Given the description of an element on the screen output the (x, y) to click on. 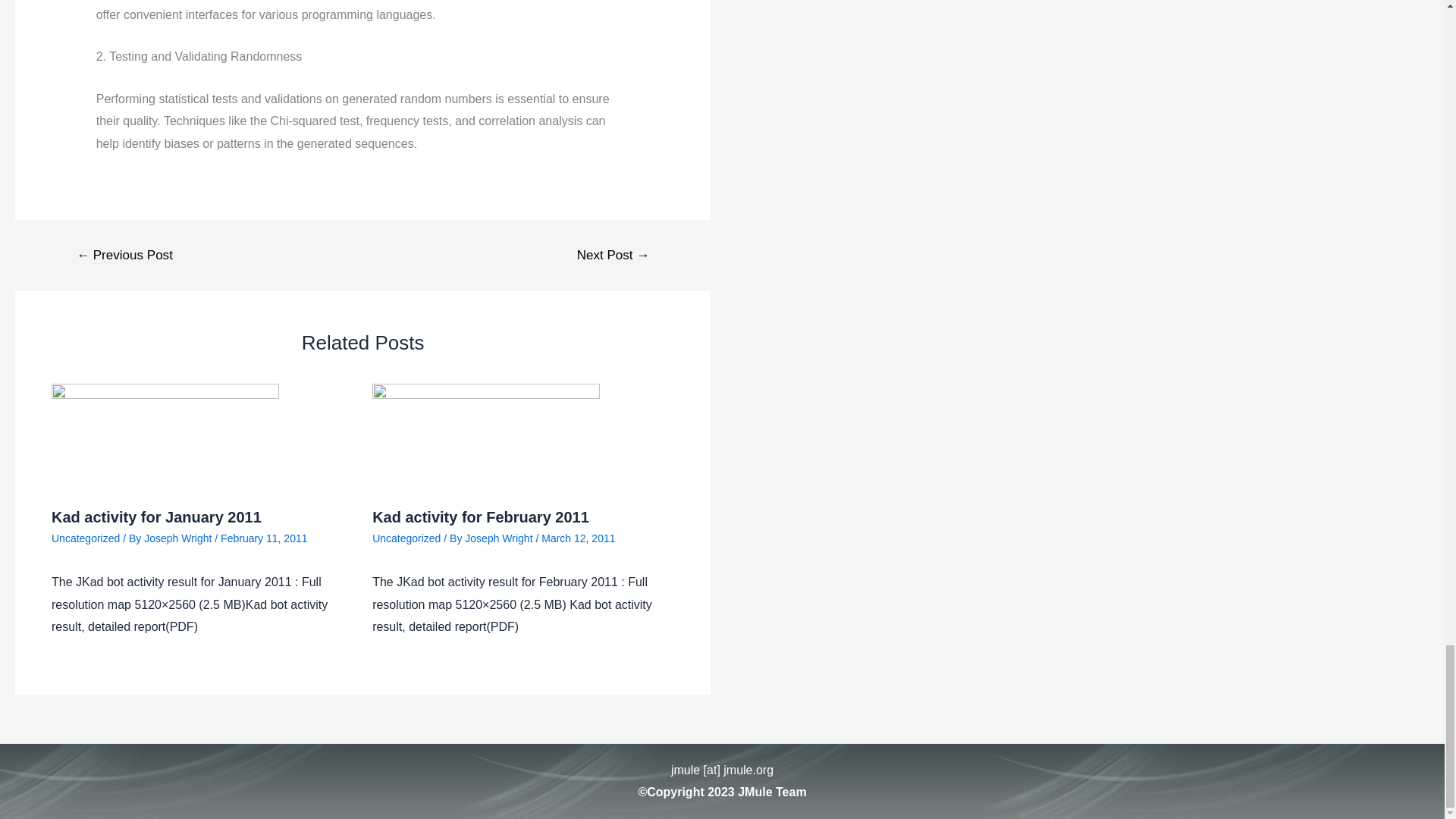
Kad activity for January 2011 (156, 516)
View all posts by Joseph Wright (499, 537)
Kad activity for February 2011 (480, 516)
Joseph Wright (499, 537)
Uncategorized (406, 537)
Joseph Wright (179, 537)
View all posts by Joseph Wright (179, 537)
Uncategorized (84, 537)
